Given the description of an element on the screen output the (x, y) to click on. 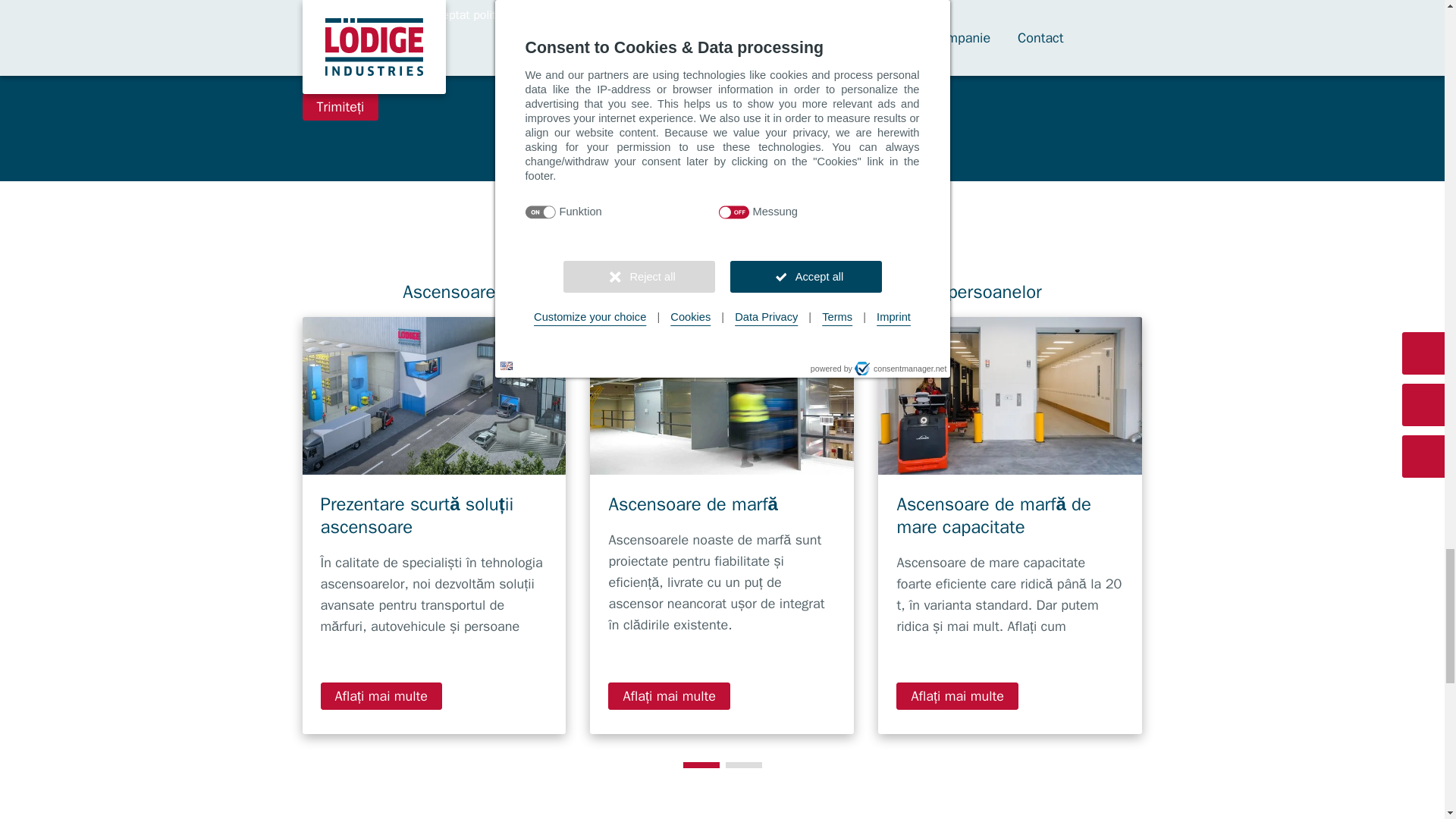
true (310, 14)
